Given the description of an element on the screen output the (x, y) to click on. 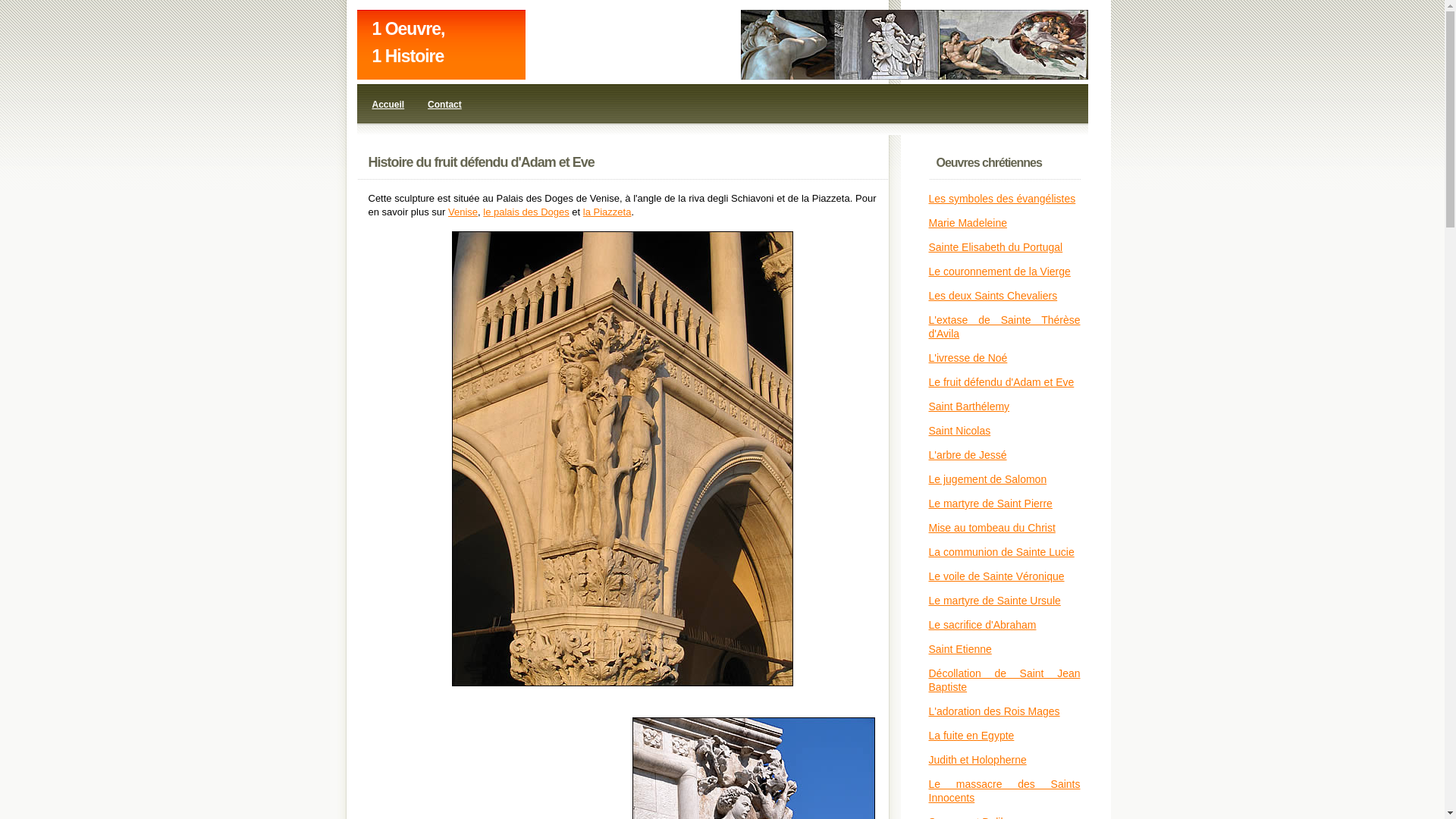
Le couronnement de la Vierge Element type: text (999, 271)
Le jugement de Salomon Element type: text (987, 479)
Le sacrifice d'Abraham Element type: text (981, 624)
Marie Madeleine Element type: text (967, 222)
Le martyre de Sainte Ursule Element type: text (994, 600)
Les deux Saints Chevaliers Element type: text (992, 295)
Mise au tombeau du Christ Element type: text (991, 527)
La communion de Sainte Lucie Element type: text (1000, 552)
le palais des Doges Element type: text (525, 211)
La fuite en Egypte Element type: text (970, 735)
Sainte Elisabeth du Portugal Element type: text (995, 247)
Contact Element type: text (444, 104)
Judith et Holopherne Element type: text (977, 759)
Accueil Element type: text (387, 104)
Le massacre des Saints Innocents Element type: text (1003, 790)
Venise Element type: text (462, 211)
Saint Etienne Element type: text (959, 649)
L'adoration des Rois Mages Element type: text (993, 711)
la Piazzeta Element type: text (607, 211)
Saint Nicolas Element type: text (959, 430)
Le martyre de Saint Pierre Element type: text (989, 503)
